Given the description of an element on the screen output the (x, y) to click on. 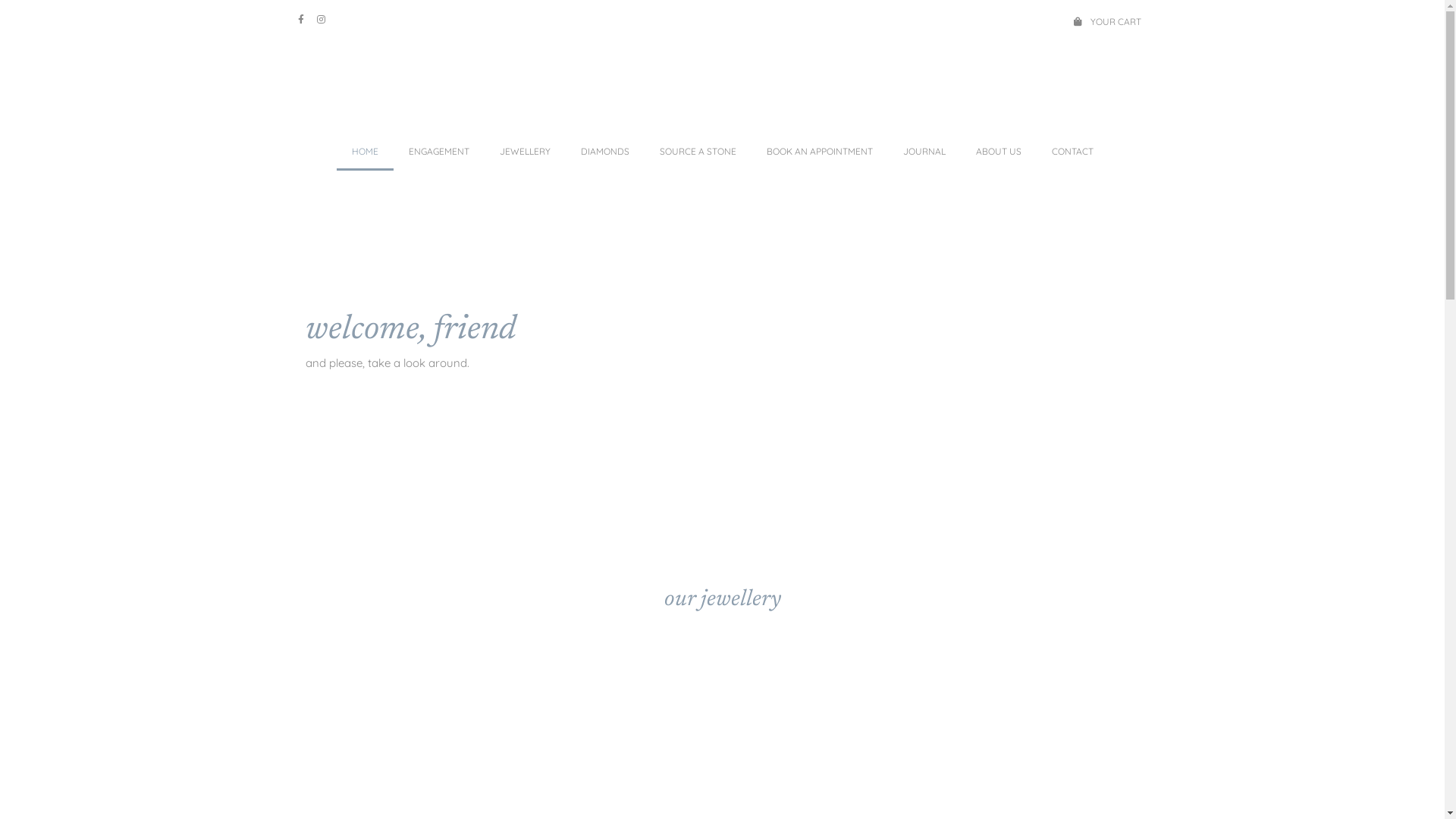
CONTACT Element type: text (1071, 151)
BOOK AN APPOINTMENT Element type: text (818, 151)
DIAMONDS Element type: text (604, 151)
JEWELLERY Element type: text (523, 151)
HOME Element type: text (364, 151)
YOUR CART Element type: text (1062, 21)
ABOUT US Element type: text (997, 151)
SOURCE A STONE Element type: text (697, 151)
ENGAGEMENT Element type: text (437, 151)
JOURNAL Element type: text (923, 151)
